Given the description of an element on the screen output the (x, y) to click on. 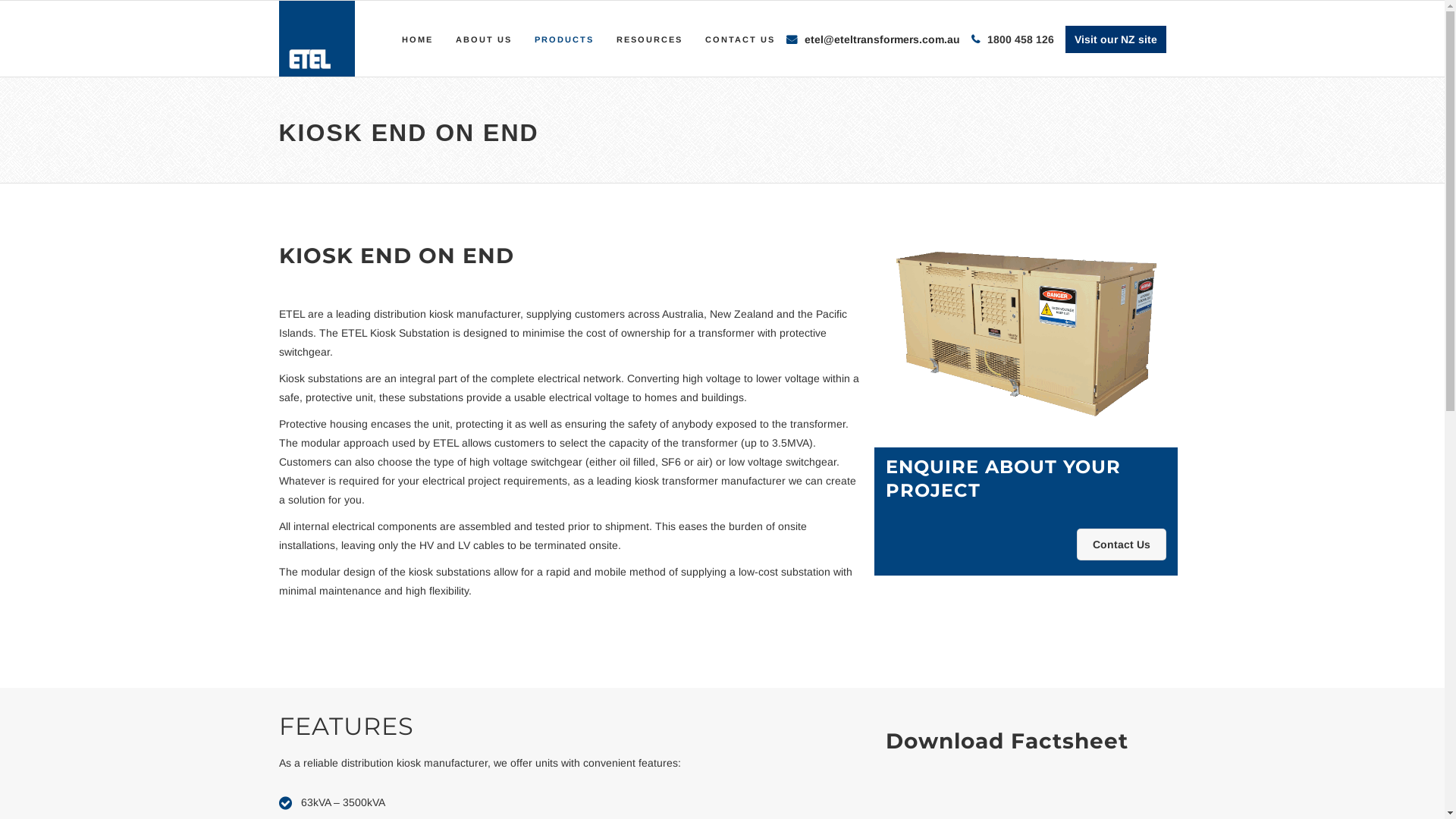
CONTACT US Element type: text (739, 39)
Visit our NZ site Element type: text (1114, 39)
HOME Element type: text (416, 39)
PRODUCTS Element type: text (564, 39)
Contact Us Element type: text (1121, 544)
etel@eteltransformers.com.au Element type: text (881, 39)
ABOUT US Element type: text (483, 39)
RESOURCES Element type: text (649, 39)
